Given the description of an element on the screen output the (x, y) to click on. 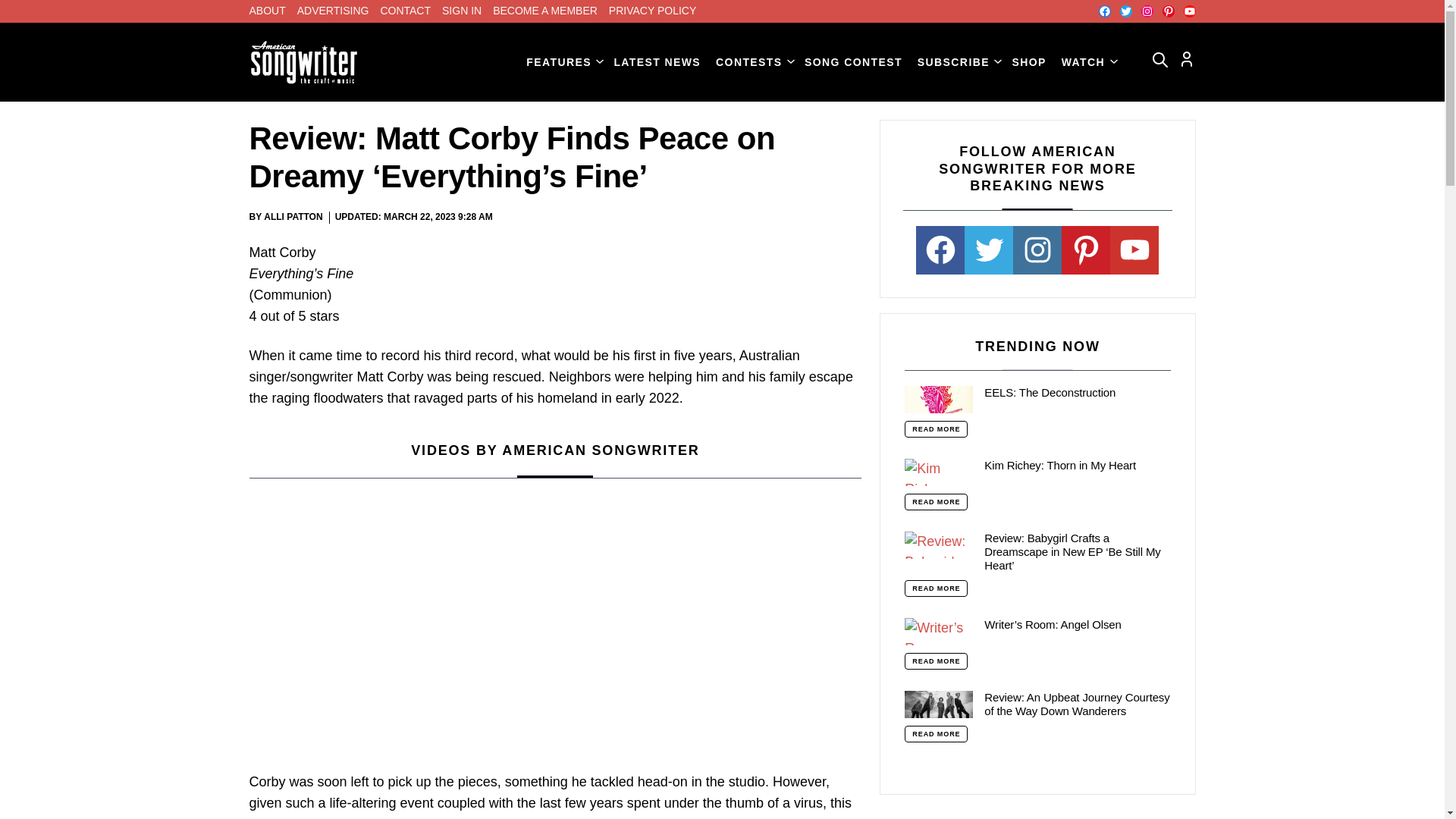
Twitter (1125, 10)
CONTACT (405, 10)
SIGN IN (461, 10)
March 22, 2023 9:28 am (438, 217)
ABOUT (266, 10)
ADVERTISING (333, 10)
PRIVACY POLICY (651, 10)
Posts by Alli Patton (292, 216)
BECOME A MEMBER (544, 10)
Instagram (1146, 10)
